Given the description of an element on the screen output the (x, y) to click on. 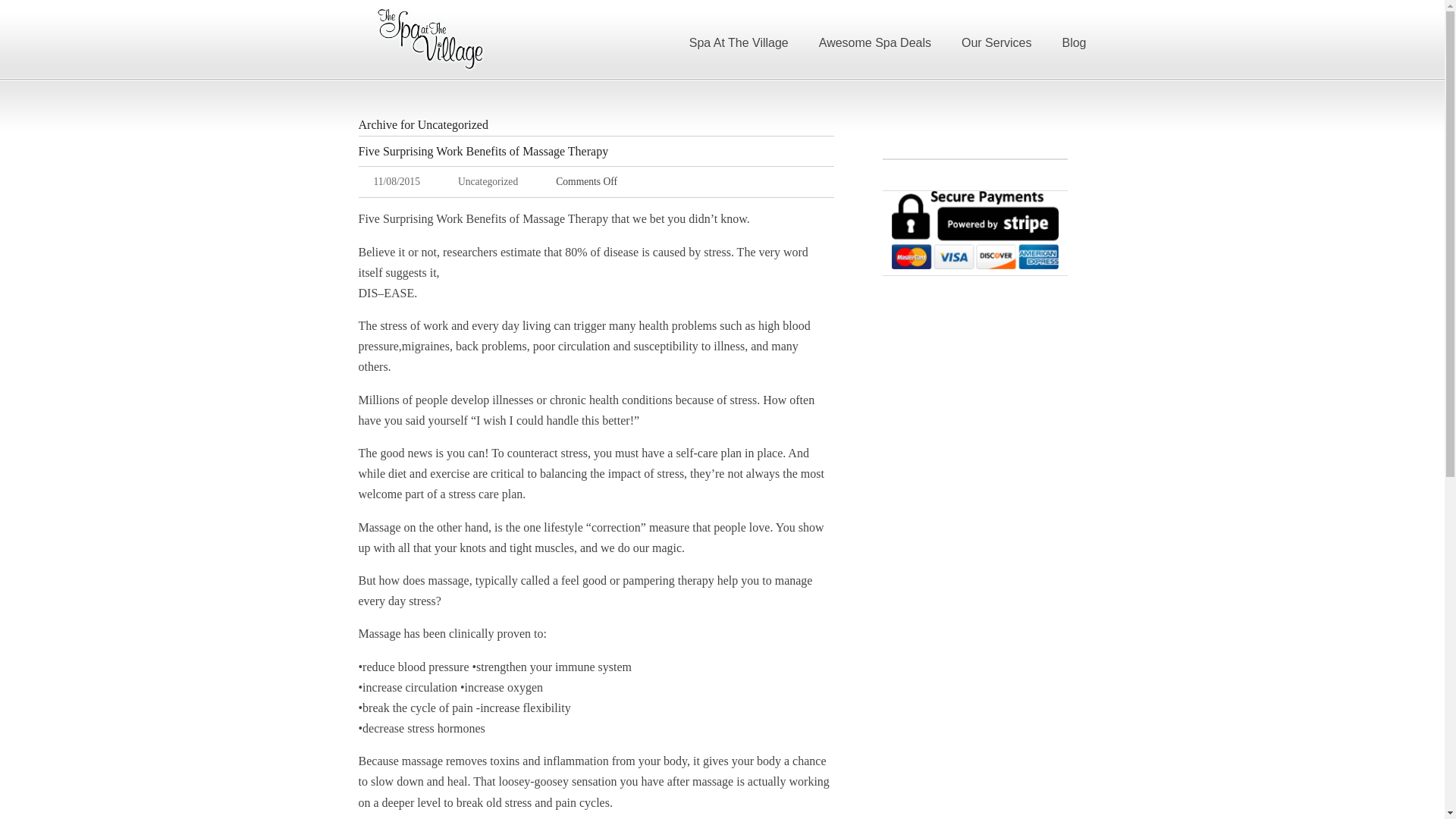
Uncategorized (488, 181)
Awesome Spa Deals (874, 39)
Spa At The Village (430, 39)
Spa At The Village (738, 39)
Five Surprising Work Benefits of Massage Therapy (483, 151)
